Given the description of an element on the screen output the (x, y) to click on. 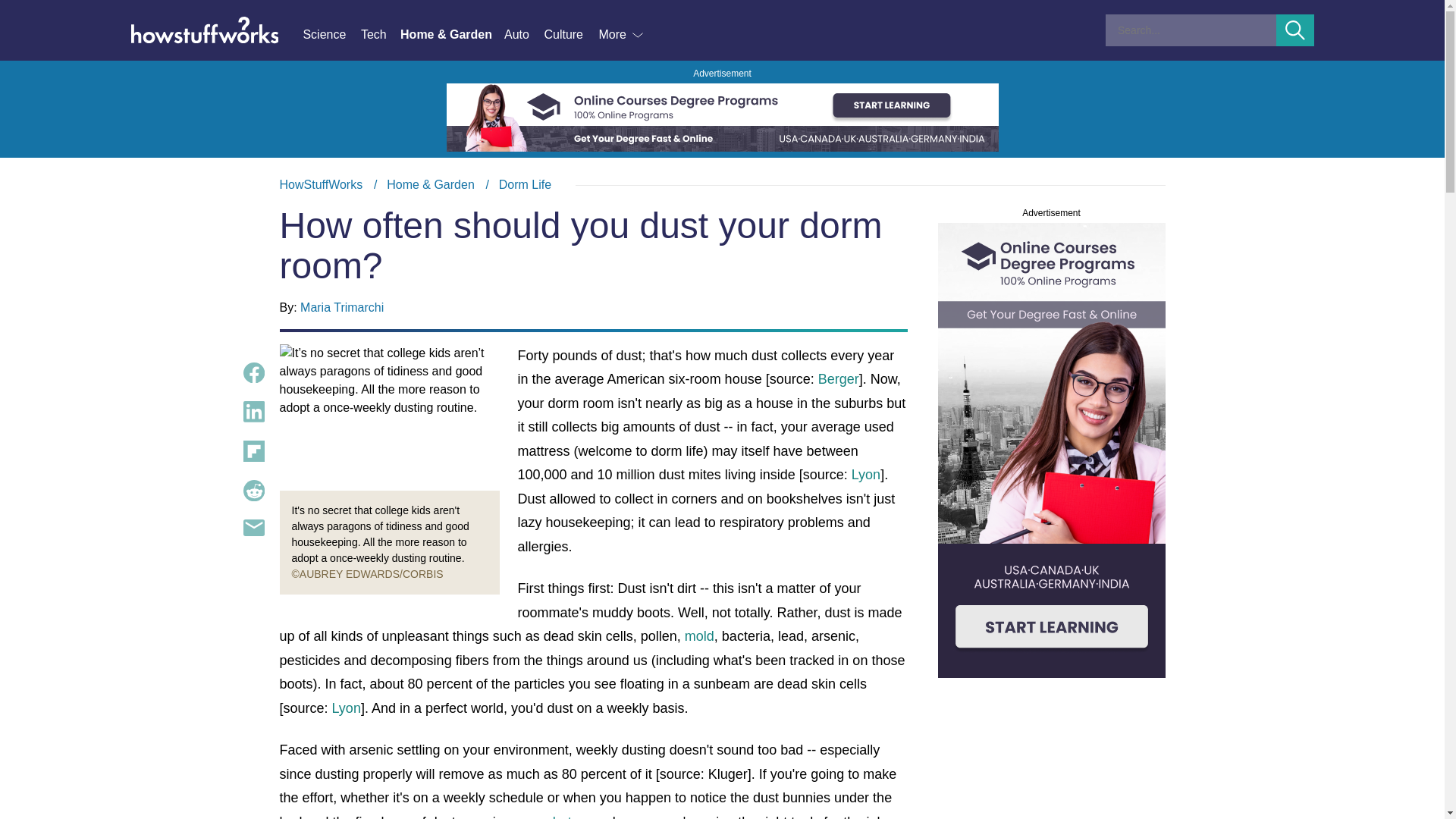
Share Content on LinkedIn (253, 411)
Share Content via Email (253, 527)
Science (330, 34)
More (621, 34)
Share Content on Flipboard (253, 450)
Auto (523, 34)
Maria Trimarchi (341, 307)
Share Content on Facebook (253, 372)
Submit Search (1295, 29)
Dorm Life (525, 184)
Culture (570, 34)
HowStuffWorks (320, 184)
Share Content on Reddit (253, 490)
Tech (380, 34)
